Given the description of an element on the screen output the (x, y) to click on. 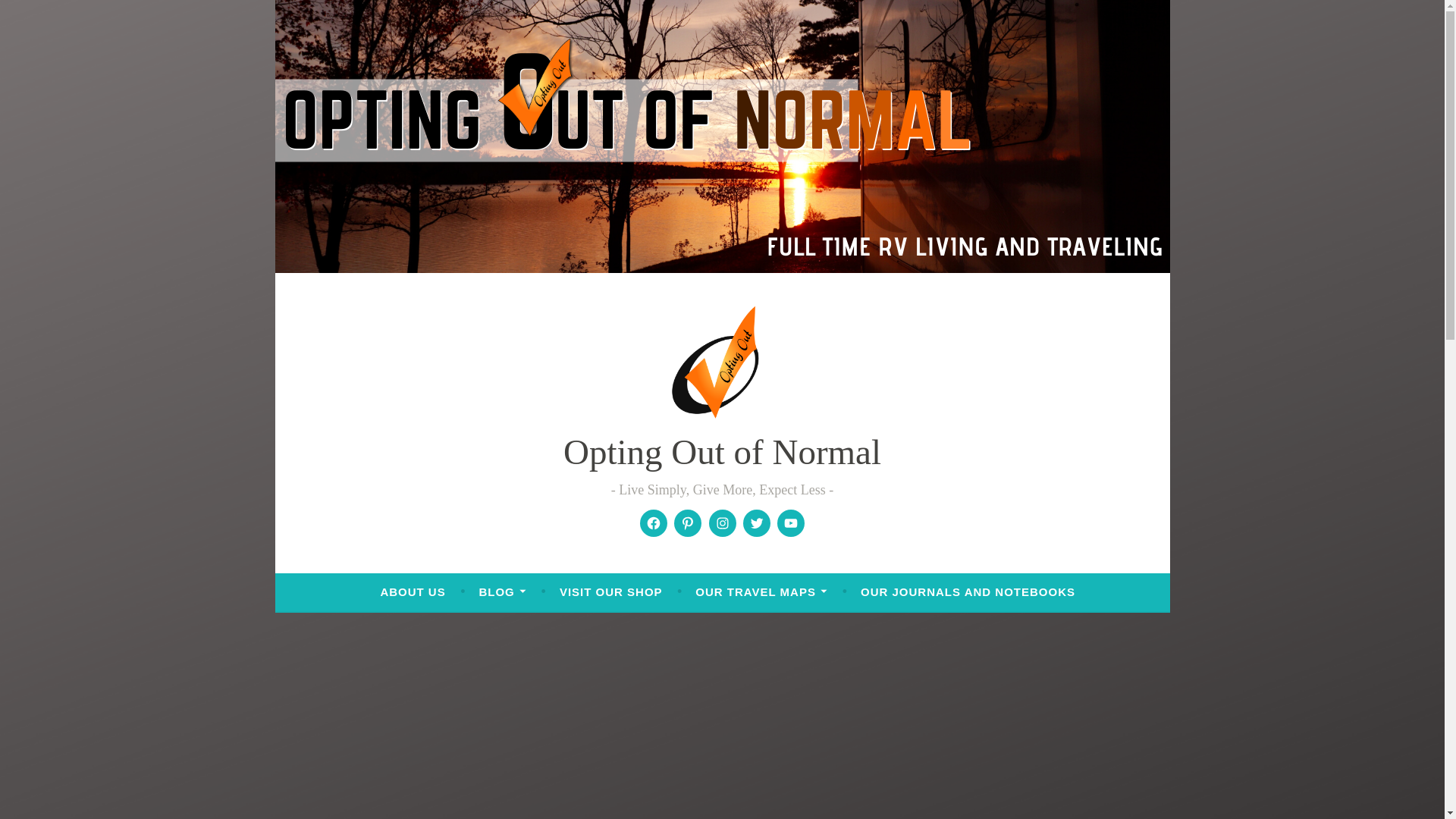
VISIT OUR SHOP (610, 592)
YouTube (790, 522)
Twitter (756, 522)
Pinterest (687, 522)
Instagram (721, 522)
OUR TRAVEL MAPS (761, 592)
ABOUT US (412, 592)
Facebook (653, 522)
OUR JOURNALS AND NOTEBOOKS (967, 592)
